Given the description of an element on the screen output the (x, y) to click on. 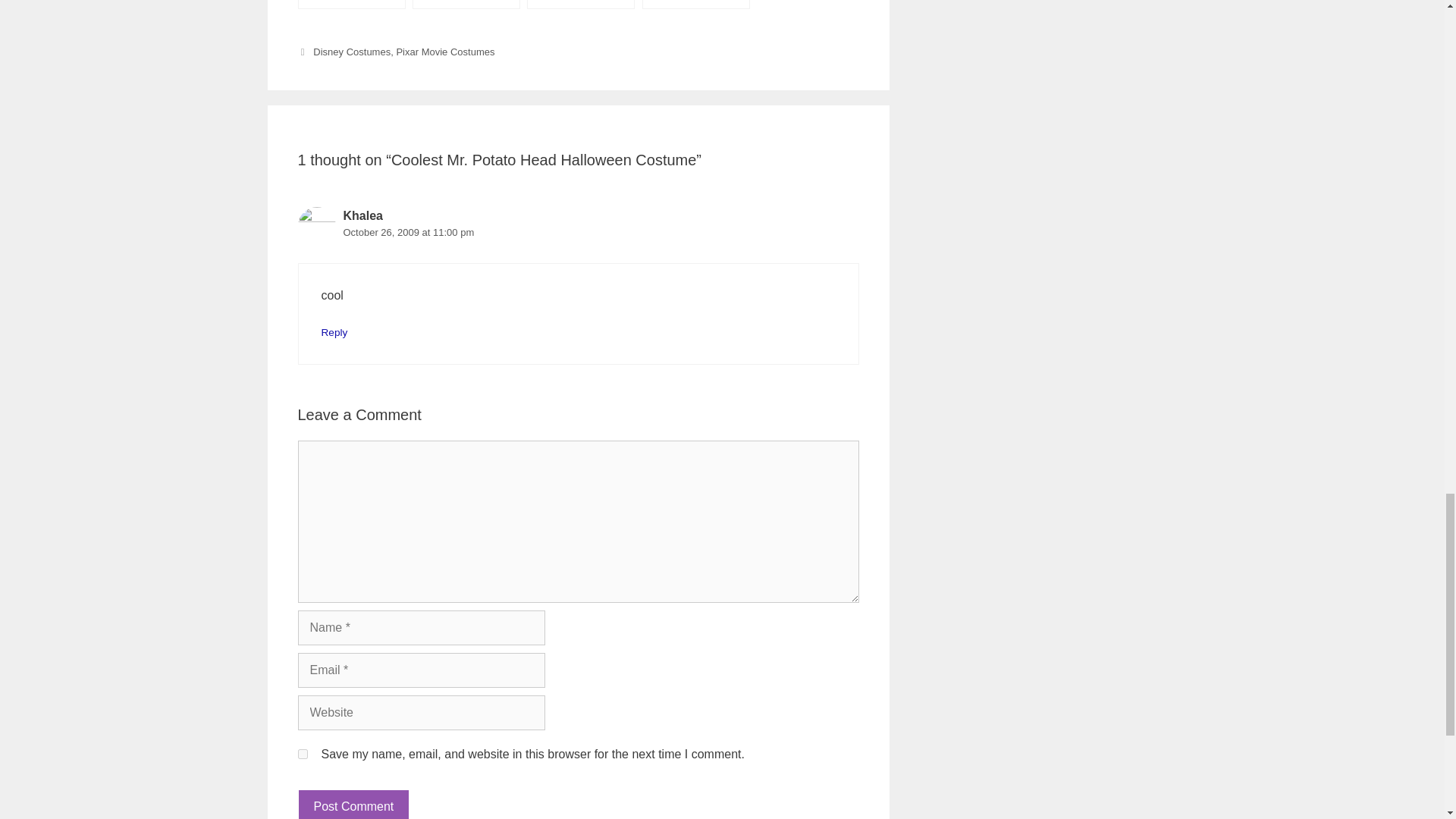
Post Comment (353, 803)
Cool Homemade Mr. Potato Head Costume (465, 4)
yes (302, 754)
Cool Lego Minifig Costume (350, 4)
Coolest Potato Head Costume (580, 4)
